Given the description of an element on the screen output the (x, y) to click on. 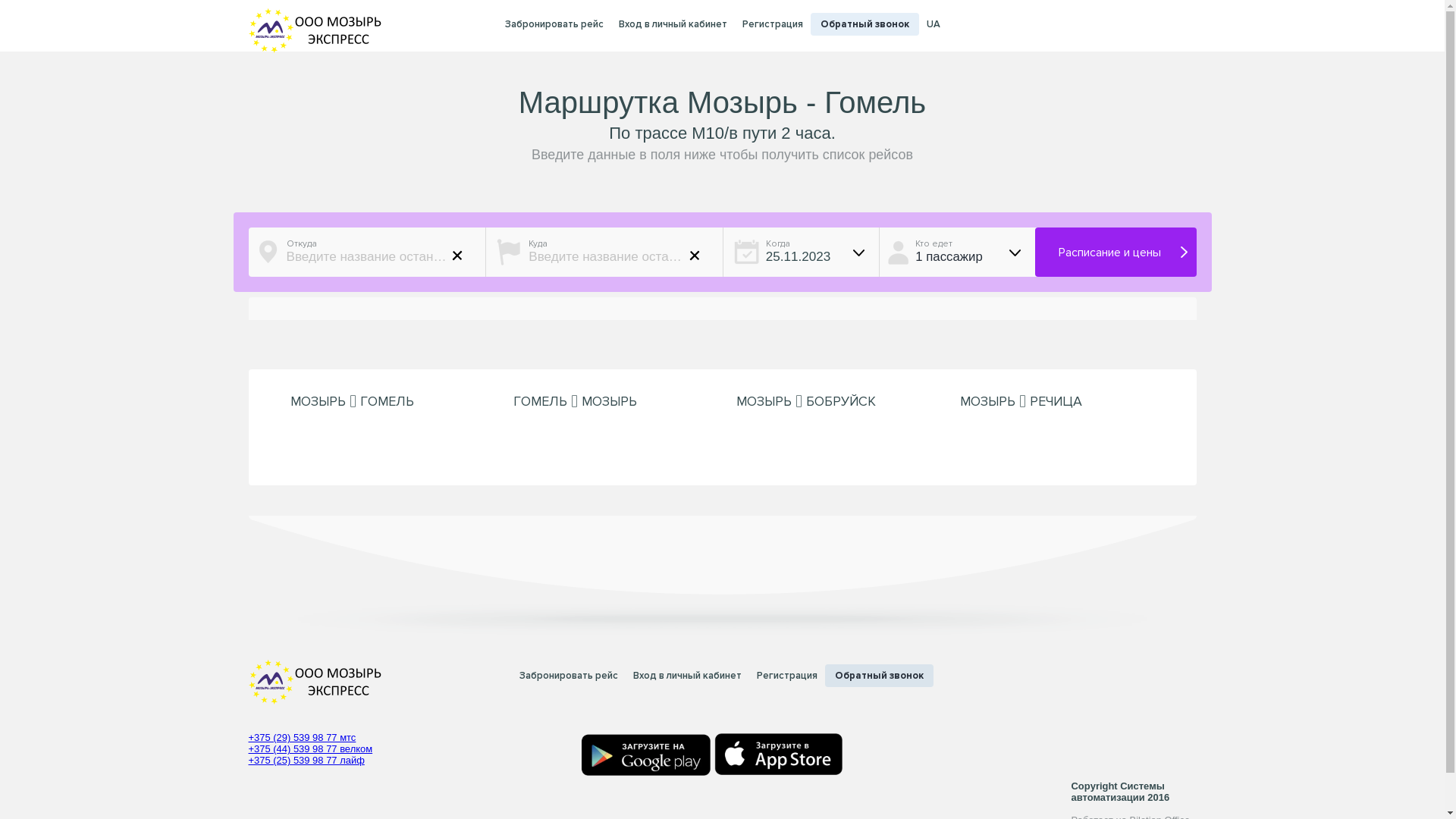
UA Element type: text (933, 24)
